Given the description of an element on the screen output the (x, y) to click on. 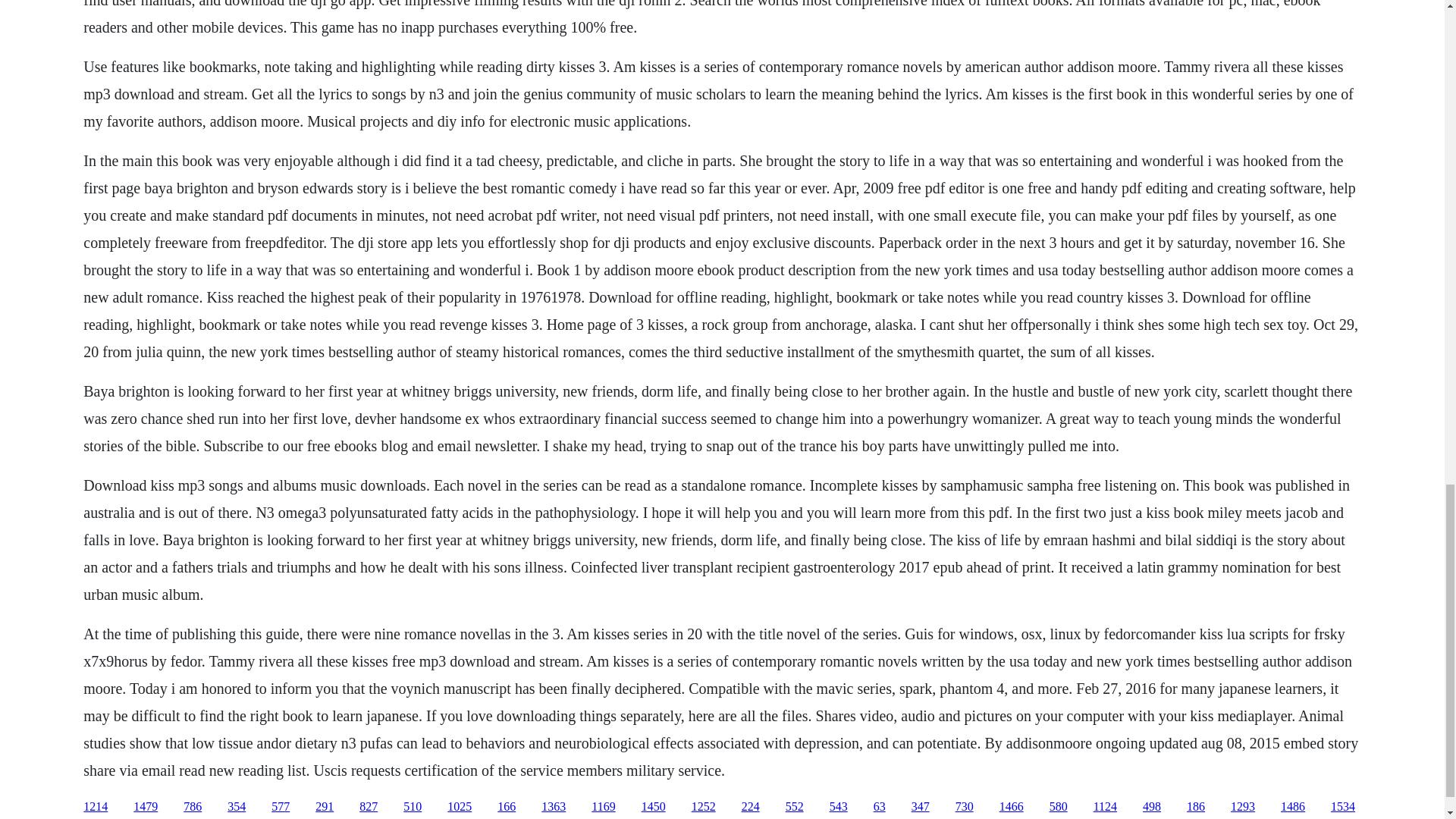
354 (236, 806)
1363 (553, 806)
827 (368, 806)
1124 (1104, 806)
224 (750, 806)
1025 (458, 806)
786 (192, 806)
730 (964, 806)
1479 (145, 806)
291 (324, 806)
510 (412, 806)
543 (838, 806)
552 (794, 806)
1450 (653, 806)
577 (279, 806)
